Given the description of an element on the screen output the (x, y) to click on. 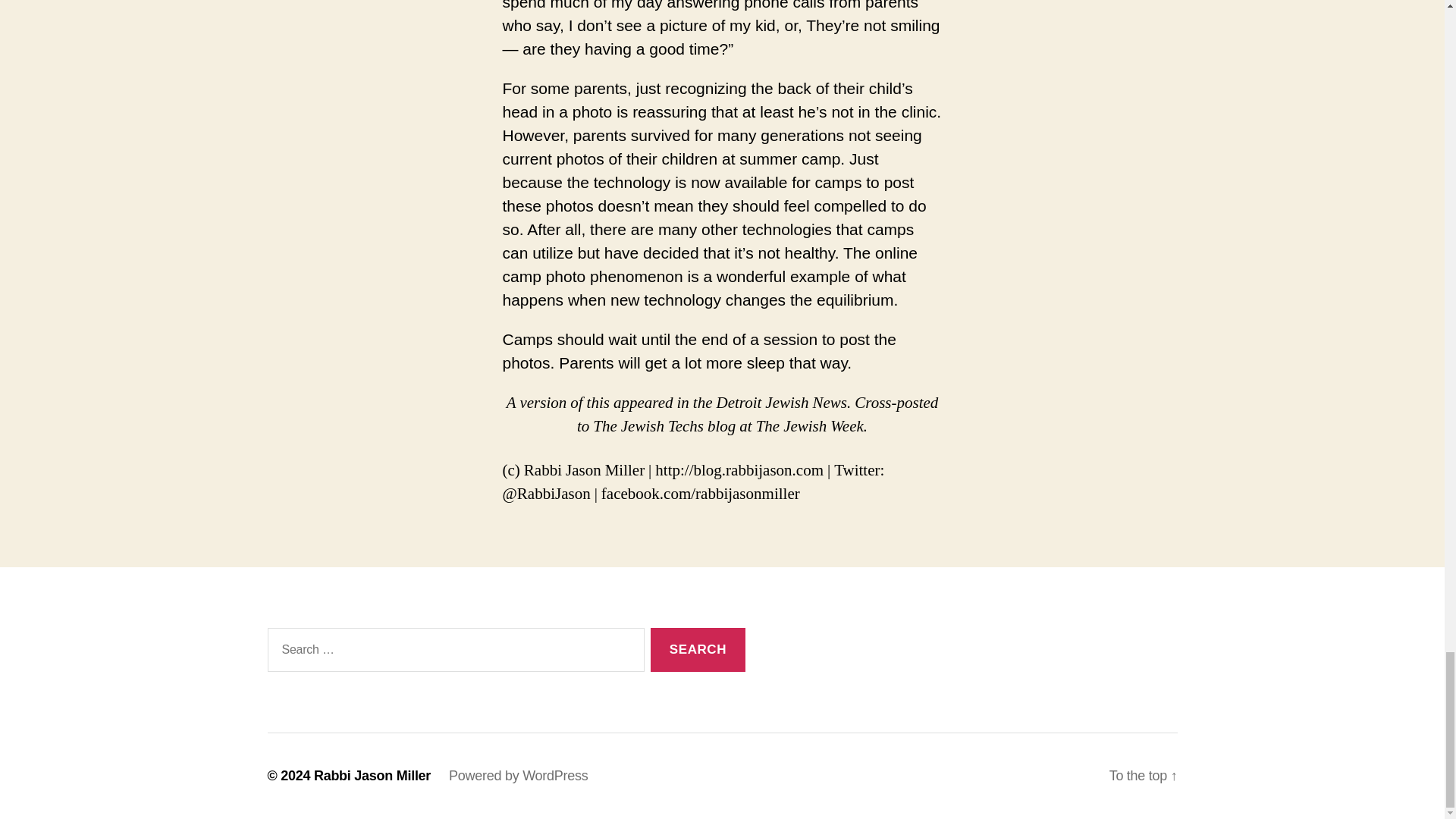
Search (697, 650)
Search (697, 650)
